Given the description of an element on the screen output the (x, y) to click on. 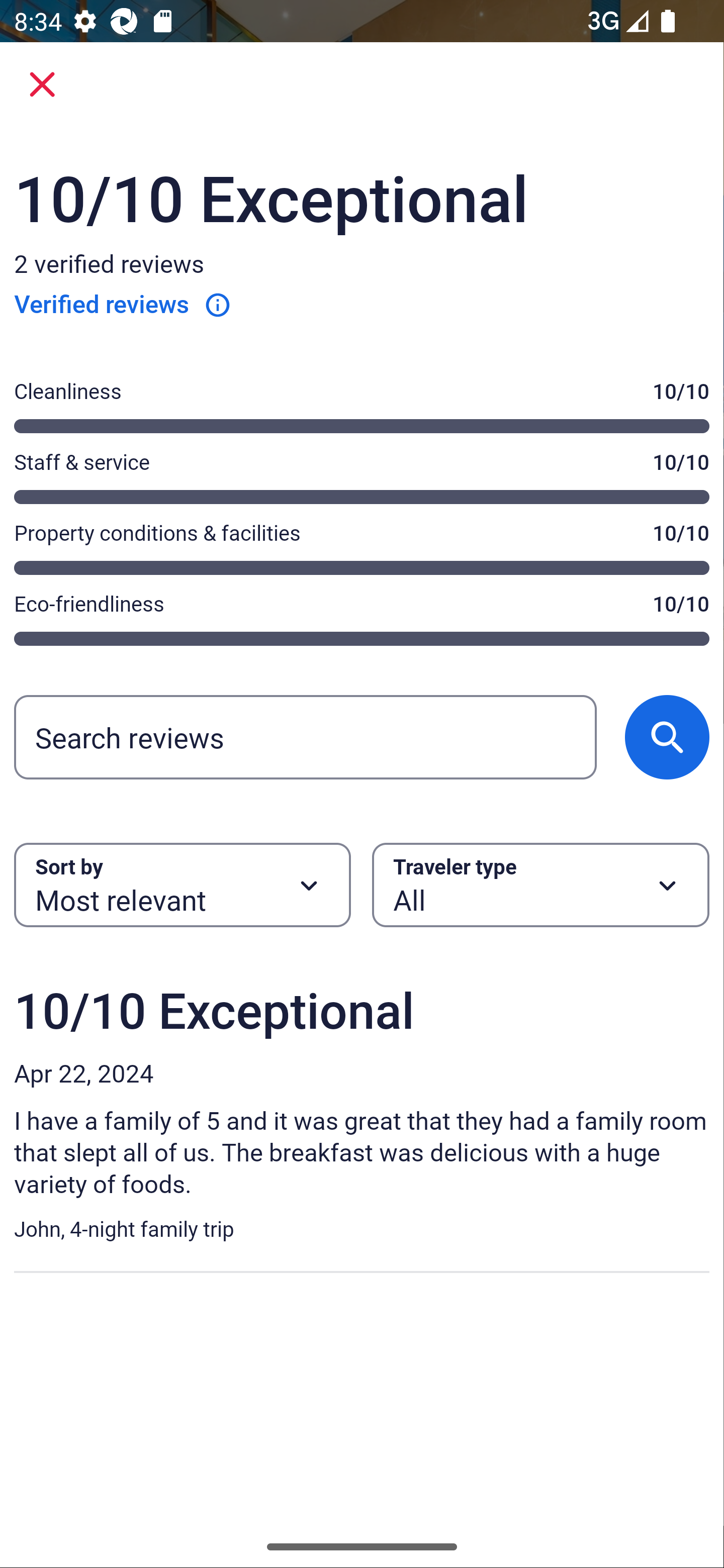
Close (42, 84)
Verified reviews (122, 303)
Search reviews (304, 736)
Search reviews button (666, 736)
Sort by Button Most relevant (182, 884)
Traveler type Button All (540, 884)
